Given the description of an element on the screen output the (x, y) to click on. 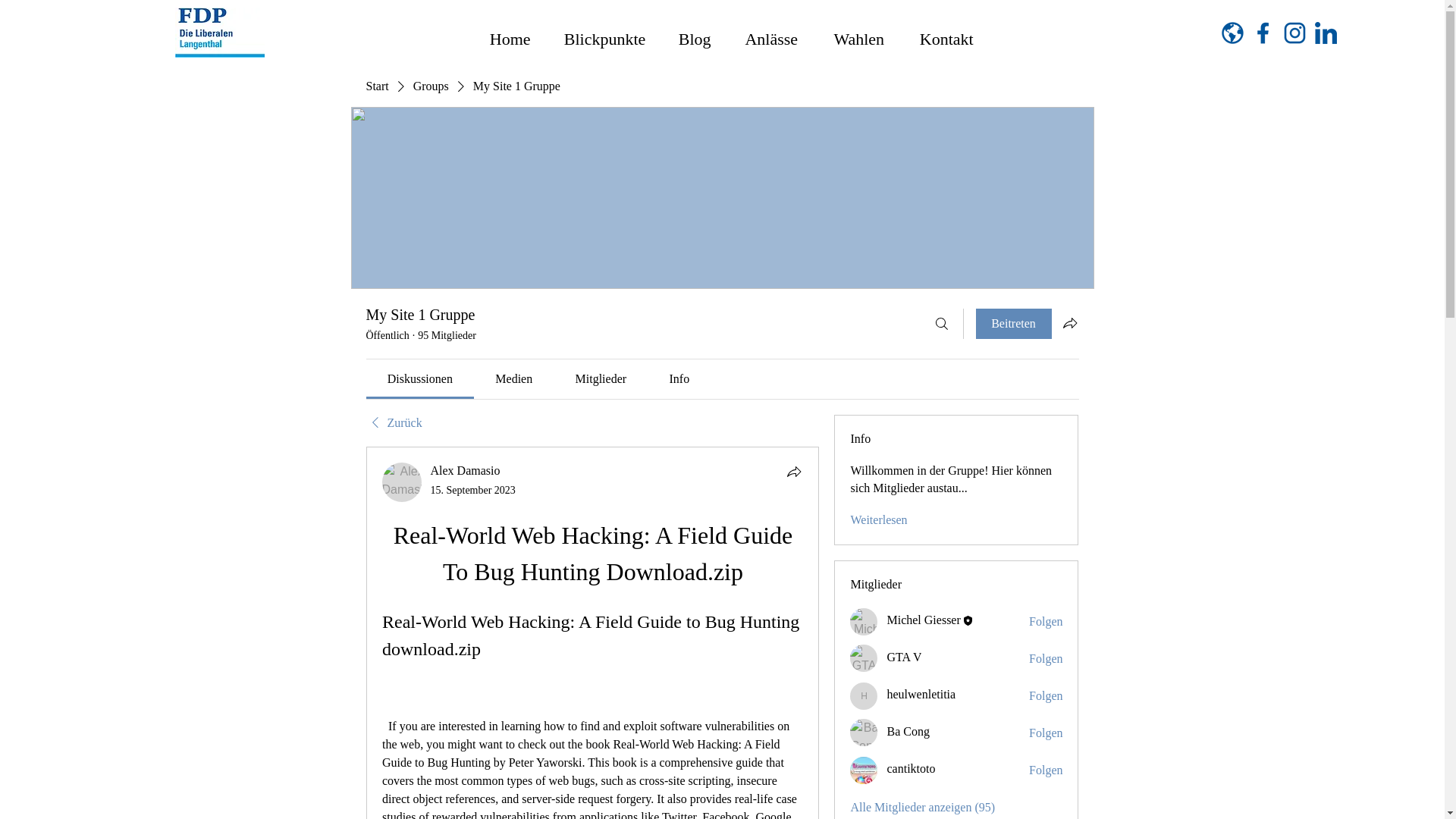
Michel Giesser (863, 621)
15. September 2023 (472, 490)
Blickpunkte (604, 32)
Wahlen (858, 32)
Blog (693, 32)
Home (509, 32)
Beitreten (1013, 323)
cantiktoto (863, 769)
Michel Giesser (922, 619)
Alex Damasio (401, 482)
Groups (430, 86)
Folgen (1045, 658)
GTA V (863, 657)
Ba Cong (863, 732)
Folgen (1045, 733)
